Given the description of an element on the screen output the (x, y) to click on. 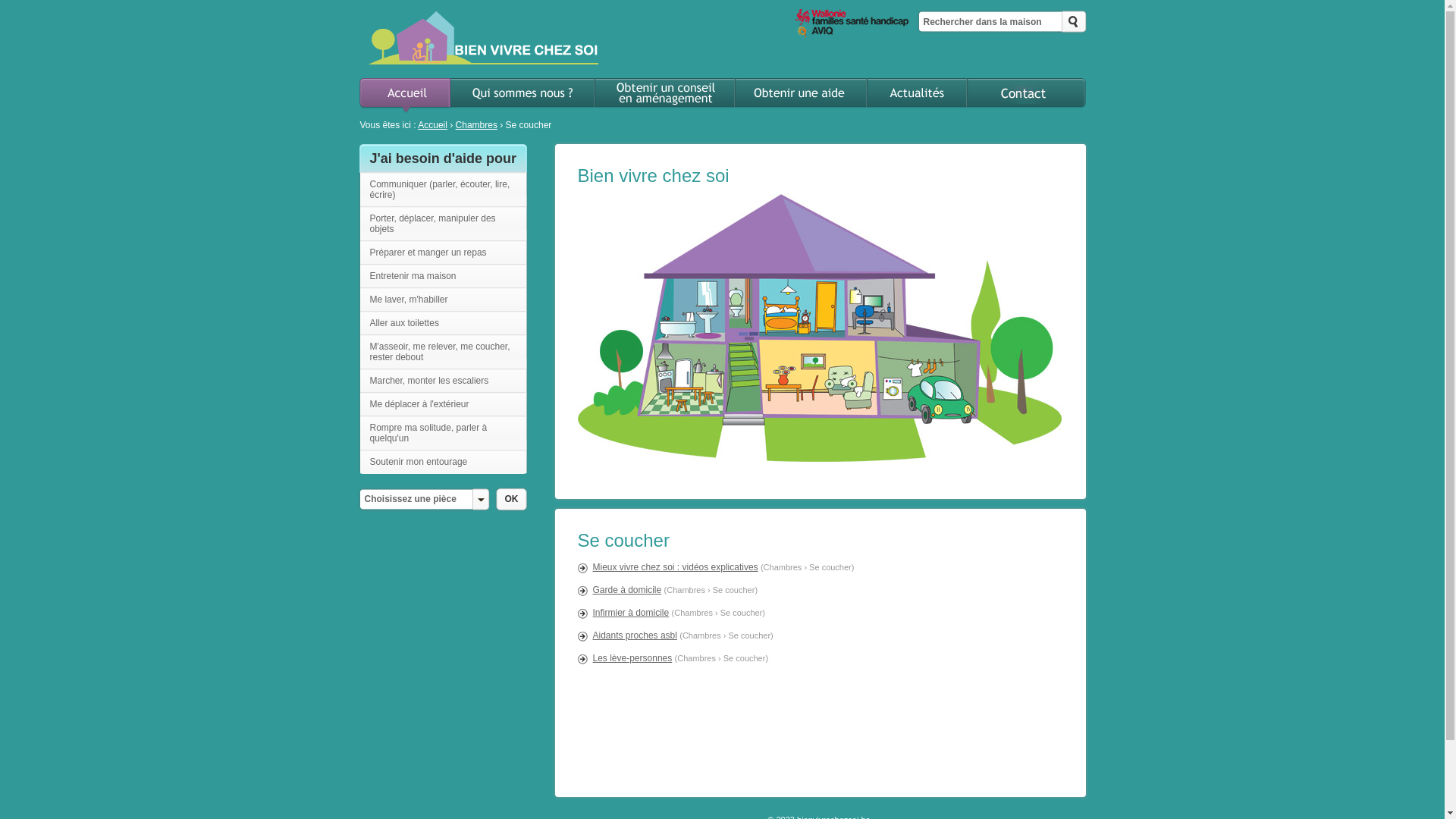
Contact Element type: text (1027, 93)
Marcher, monter les escaliers Element type: text (442, 380)
Rechercher Element type: hover (1074, 21)
Rechercher Element type: text (1074, 21)
Rechercher dans la maison Element type: hover (989, 21)
Aidants proches asbl Element type: text (635, 635)
Entretenir ma maison Element type: text (442, 275)
Chambres Element type: text (476, 124)
Soutenir mon entourage Element type: text (442, 461)
Obtenir une aide Element type: text (801, 93)
M'asseoir, me relever, me coucher, rester debout Element type: text (442, 351)
Accueil Element type: text (402, 93)
Accueil Element type: text (432, 124)
Aller aux toilettes Element type: text (442, 322)
Qui sommes-nous Element type: text (523, 93)
Me laver, m'habiller Element type: text (442, 299)
